Given the description of an element on the screen output the (x, y) to click on. 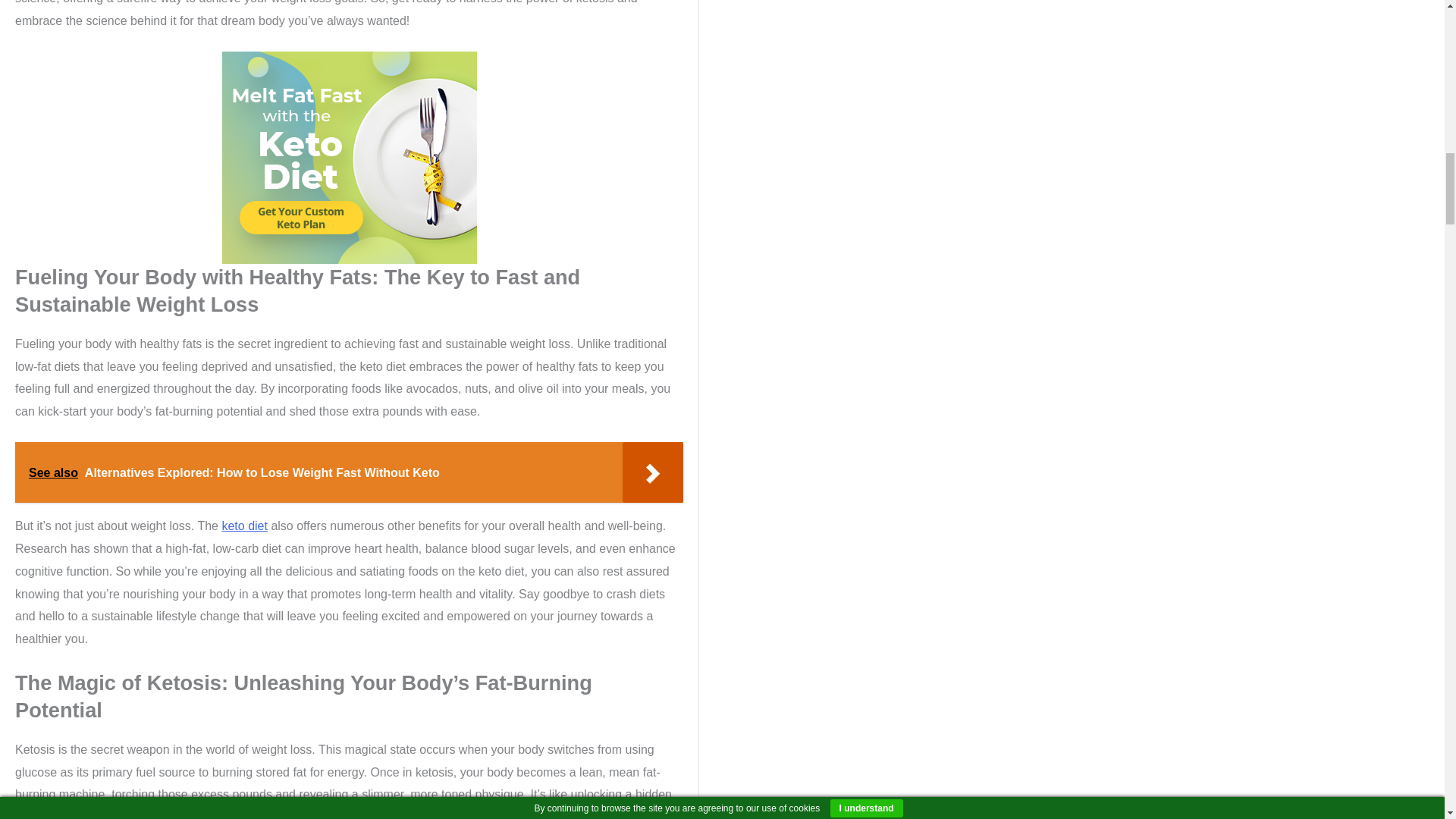
keto diet (243, 525)
